Given the description of an element on the screen output the (x, y) to click on. 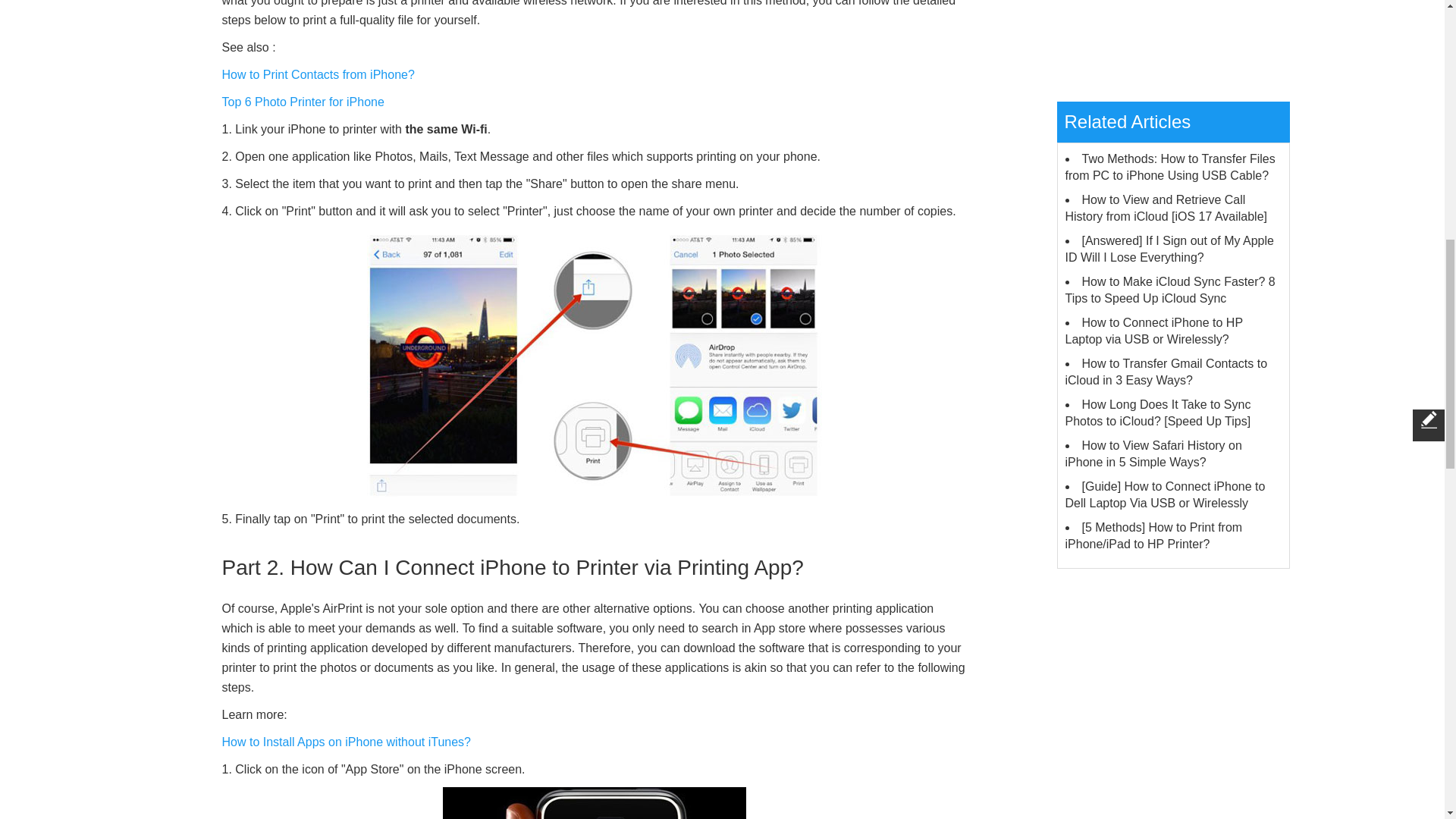
How to Install Apps on iPhone without iTunes? (345, 741)
Top 6 Photo Printer for iPhone (302, 101)
How to Print Contacts from iPhone? (317, 74)
